Given the description of an element on the screen output the (x, y) to click on. 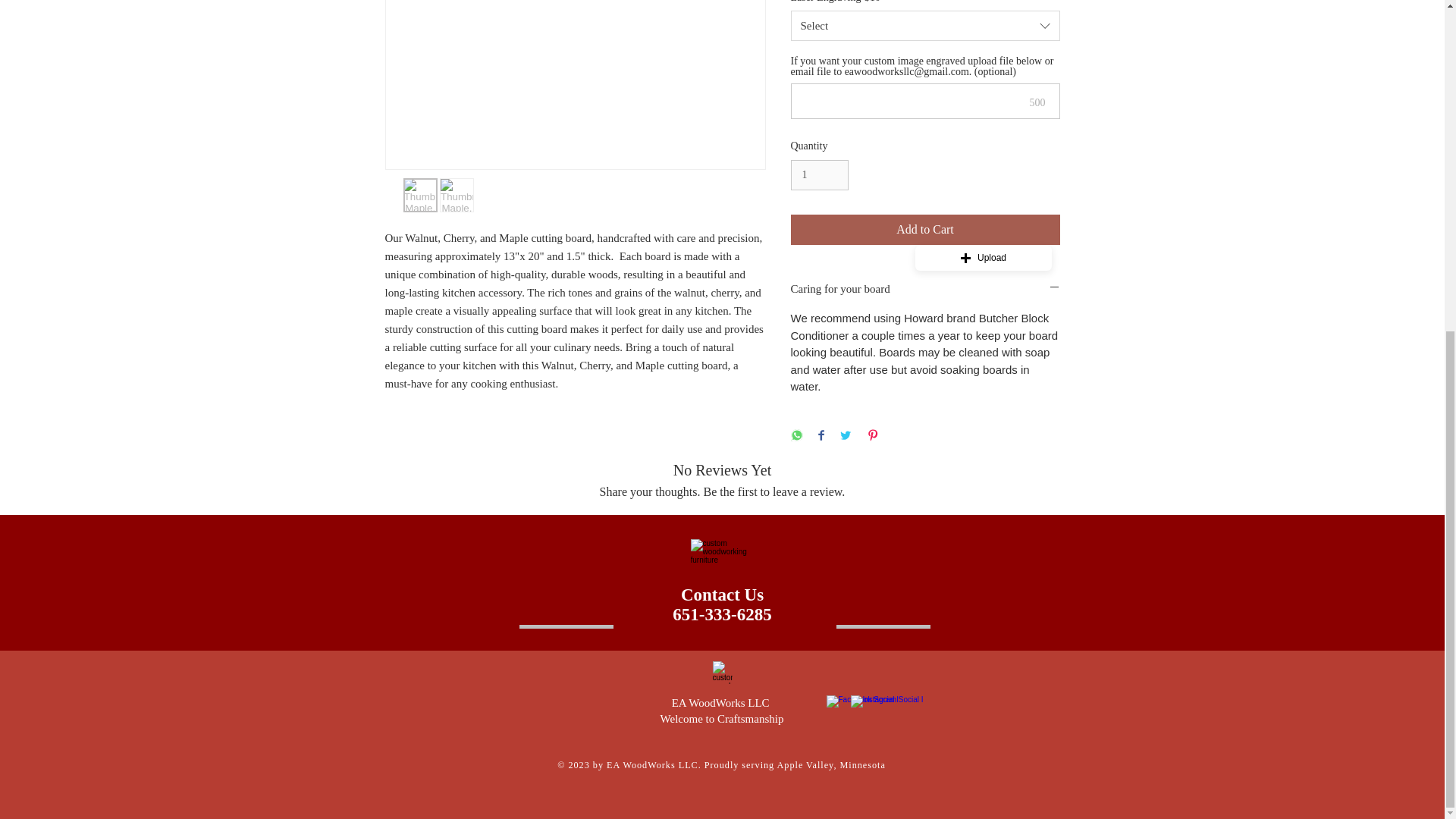
Select (924, 25)
Caring for your board (924, 289)
Add to Cart (924, 229)
Leave a Review (721, 540)
1 (721, 604)
